Given the description of an element on the screen output the (x, y) to click on. 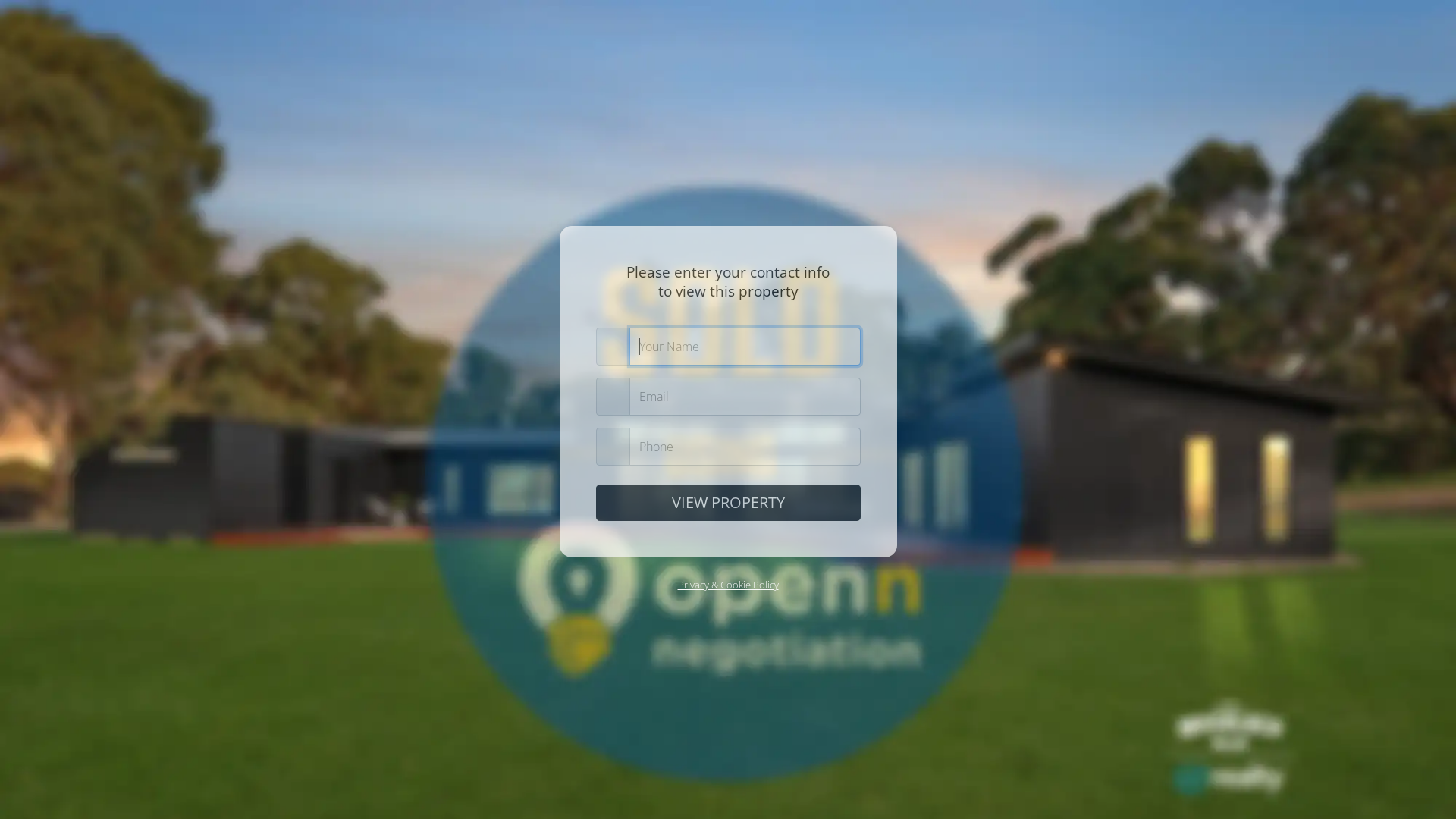
Privacy & Cookie Policy Element type: text (727, 584)
VIEW PROPERTY Element type: text (728, 502)
